Given the description of an element on the screen output the (x, y) to click on. 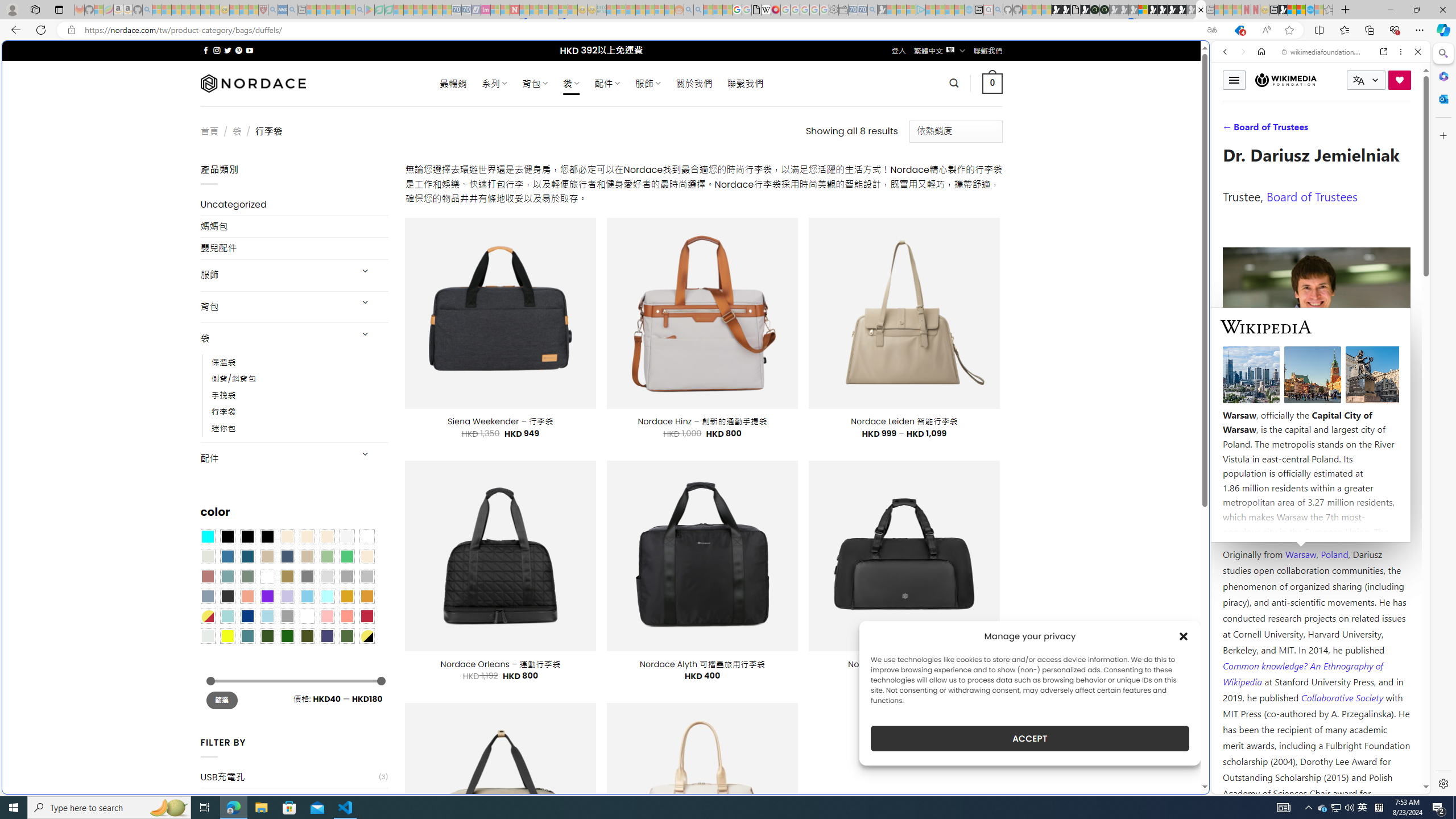
Toggle menu (1233, 80)
  0   (992, 83)
